Given the description of an element on the screen output the (x, y) to click on. 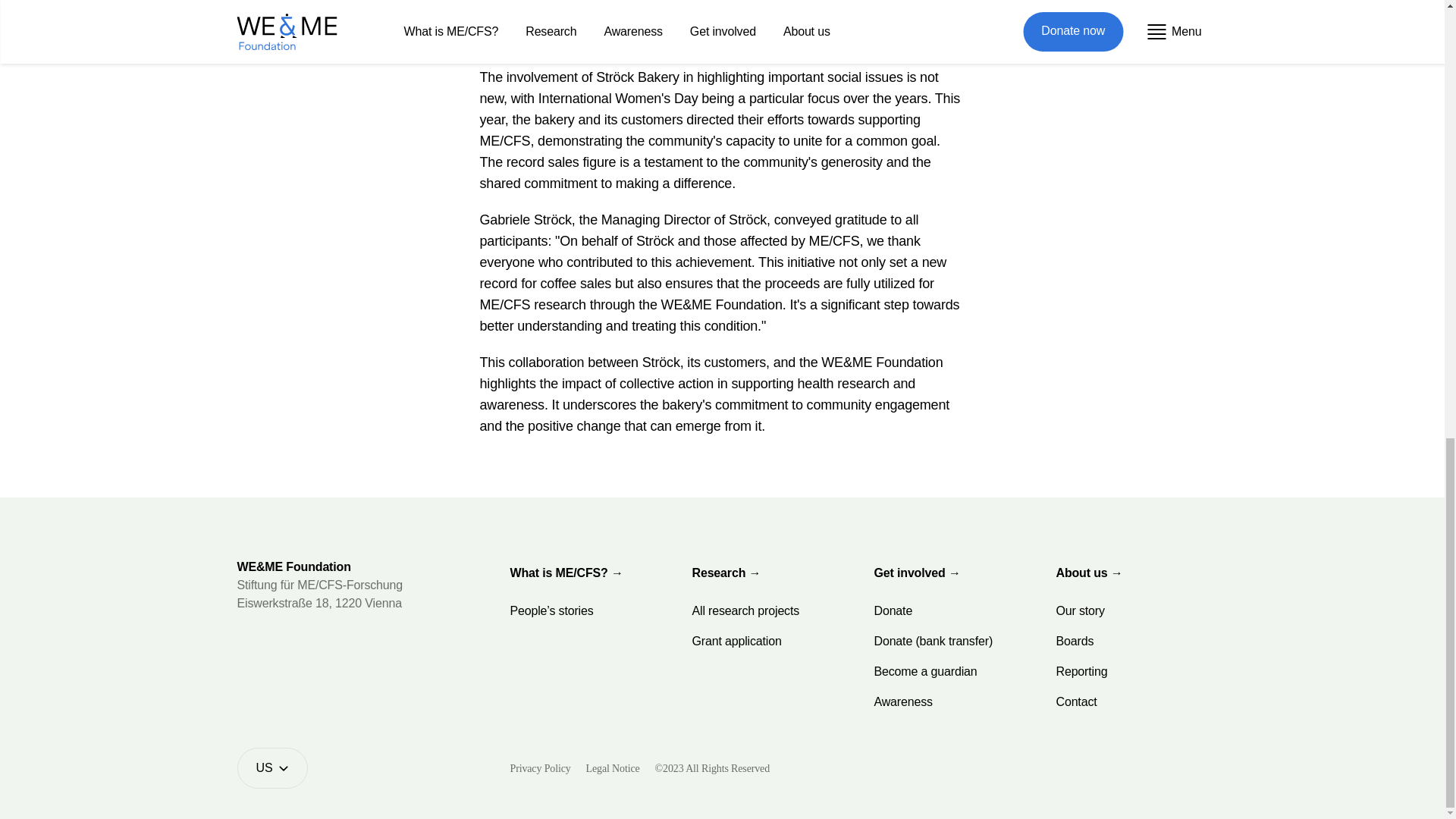
Privacy Policy (539, 767)
Contact (1075, 702)
Legal Notice (613, 767)
Reporting (1080, 671)
All research projects (745, 611)
Boards (1074, 641)
Grant application (735, 641)
Awareness (902, 702)
Become a guardian (924, 671)
Our story (1079, 611)
Donate (892, 611)
